Given the description of an element on the screen output the (x, y) to click on. 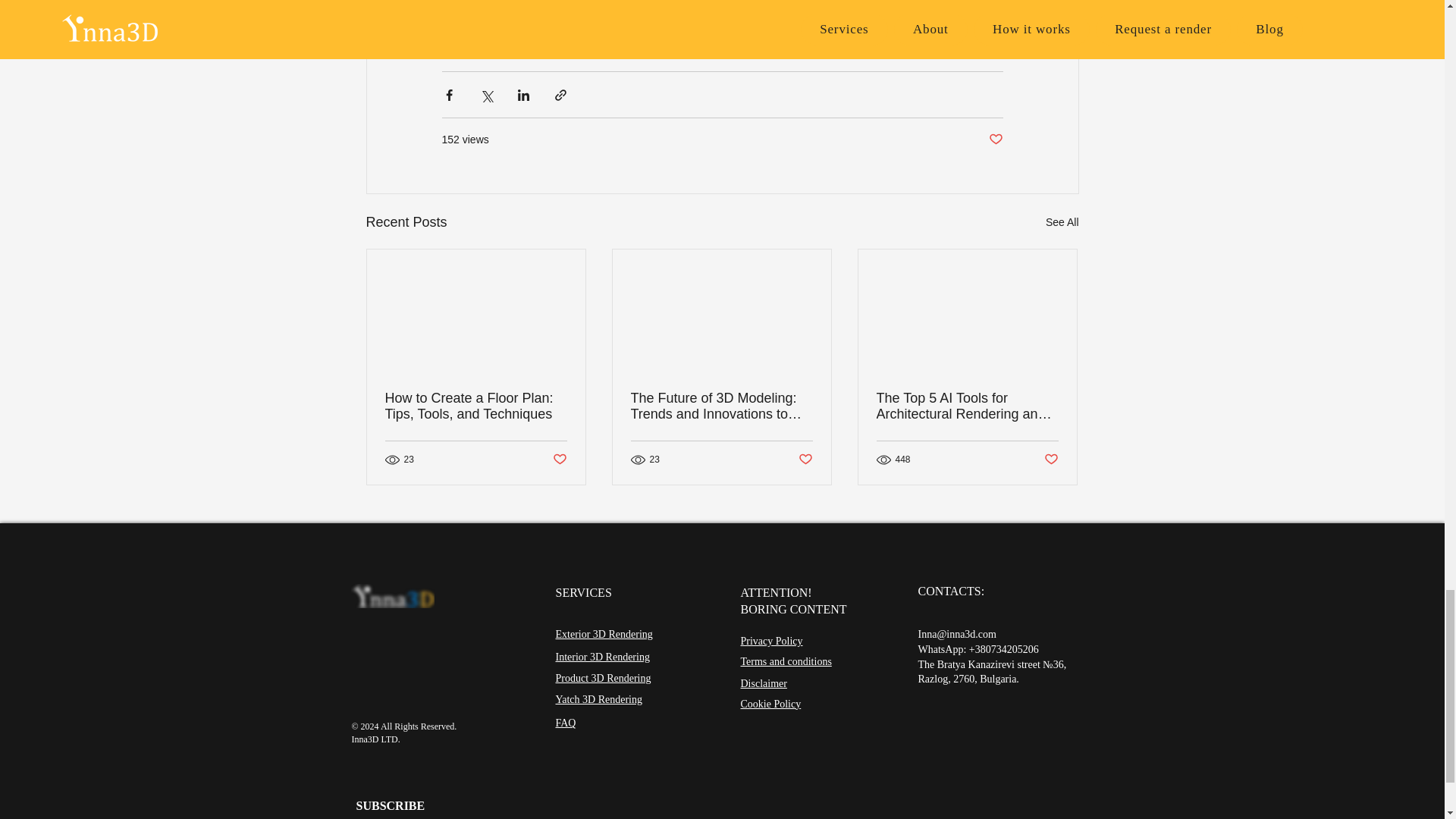
How to Create a Floor Plan: Tips, Tools, and Techniques (476, 406)
Post not marked as liked (558, 459)
Ways You Can Use 3D Rendering for Marketing (643, 4)
Impact of Artificial Intelligence in CGI (653, 22)
Post not marked as liked (804, 459)
Post not marked as liked (995, 139)
See All (1061, 222)
The Future of 3D Modeling: Trends and Innovations to Watch (721, 406)
